Given the description of an element on the screen output the (x, y) to click on. 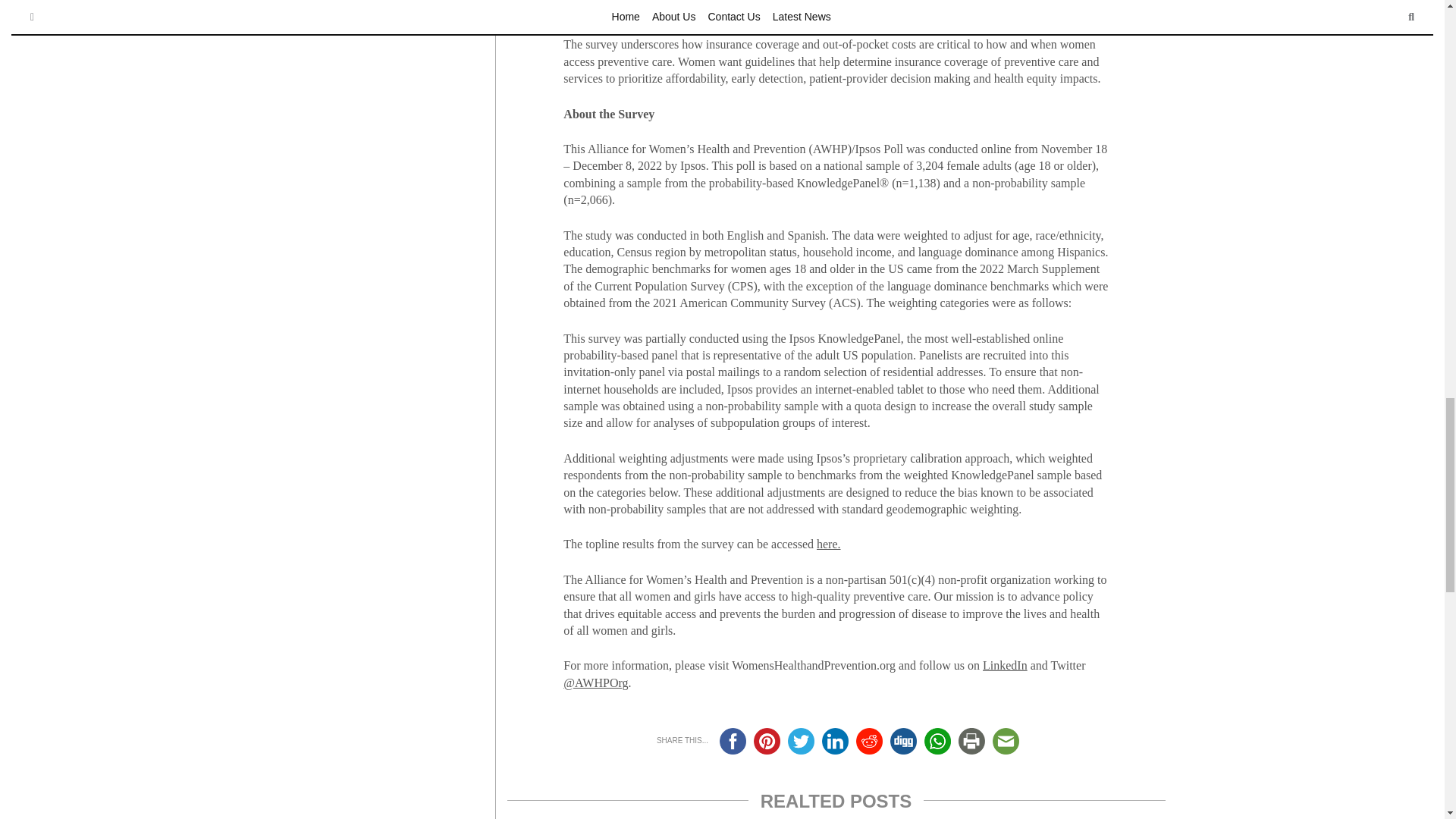
LinkedIn (1004, 665)
twitter (800, 741)
reddit (869, 741)
pinterest (767, 741)
facebook (732, 741)
here. (828, 543)
linkedin (835, 741)
